Given the description of an element on the screen output the (x, y) to click on. 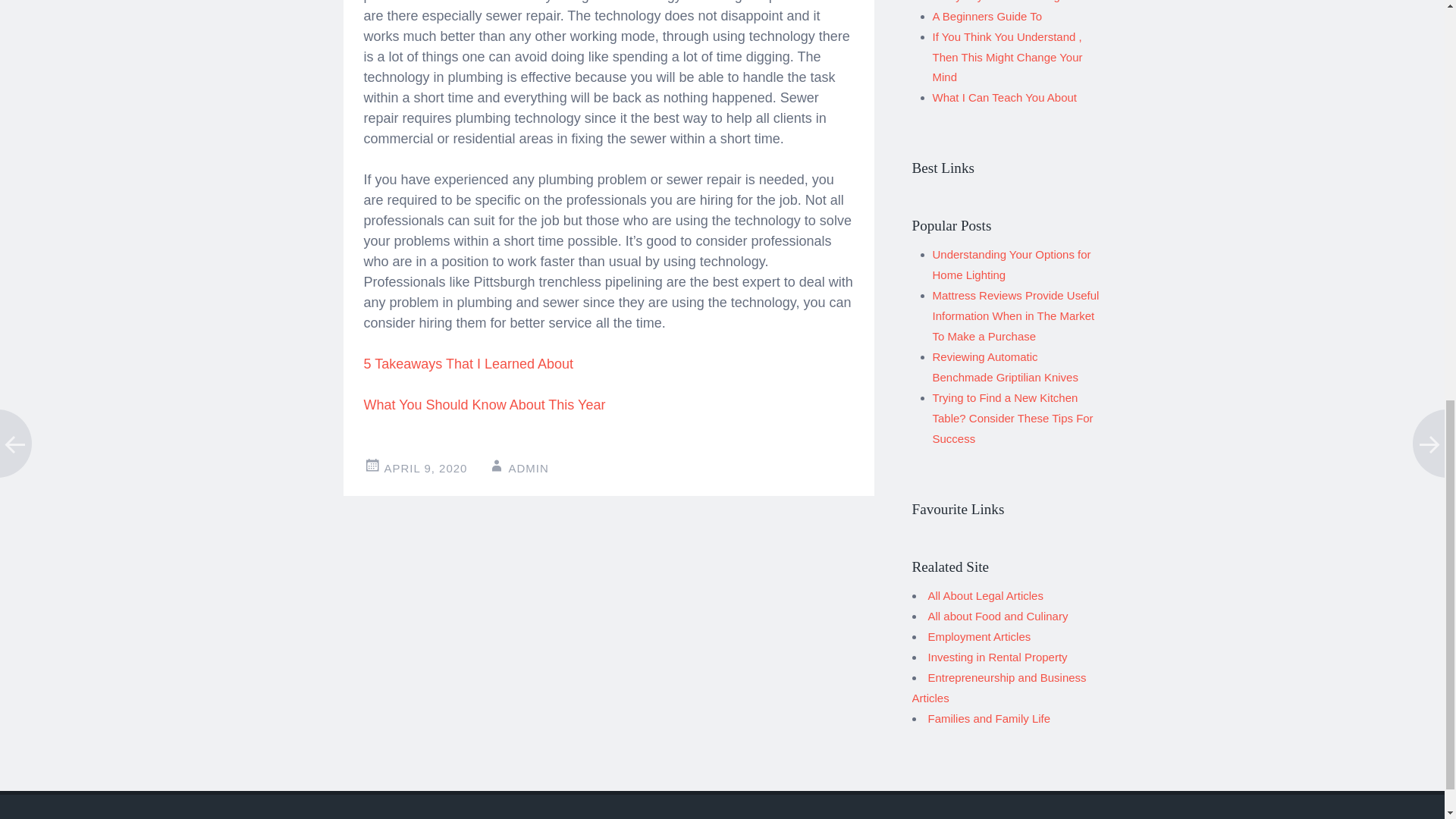
Study: My Understanding of (1003, 1)
Reviewing Automatic Benchmade Griptilian Knives (1005, 367)
5 Takeaways That I Learned About (468, 363)
Understanding Your Options for Home Lighting (1011, 264)
What I Can Teach You About (1005, 97)
APRIL 9, 2020 (425, 468)
View all posts by admin (528, 468)
